Given the description of an element on the screen output the (x, y) to click on. 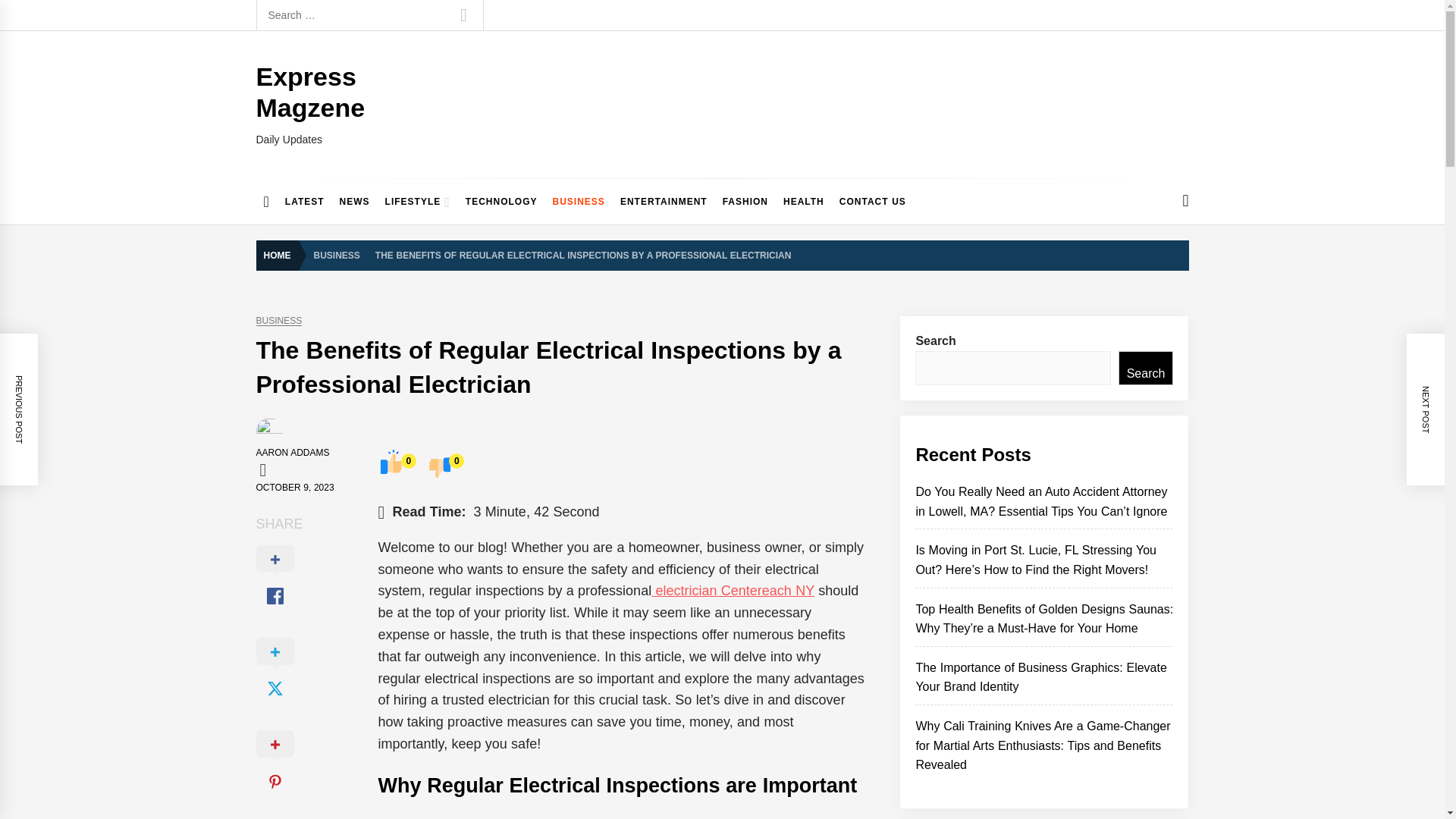
NEWS (354, 201)
BUSINESS (336, 254)
CONTACT US (872, 201)
Express Magzene (310, 92)
OCTOBER 9, 2023 (295, 487)
Search (462, 15)
LIFESTYLE (417, 201)
BUSINESS (578, 201)
AARON ADDAMS (293, 452)
electrician Centereach NY (731, 590)
